Given the description of an element on the screen output the (x, y) to click on. 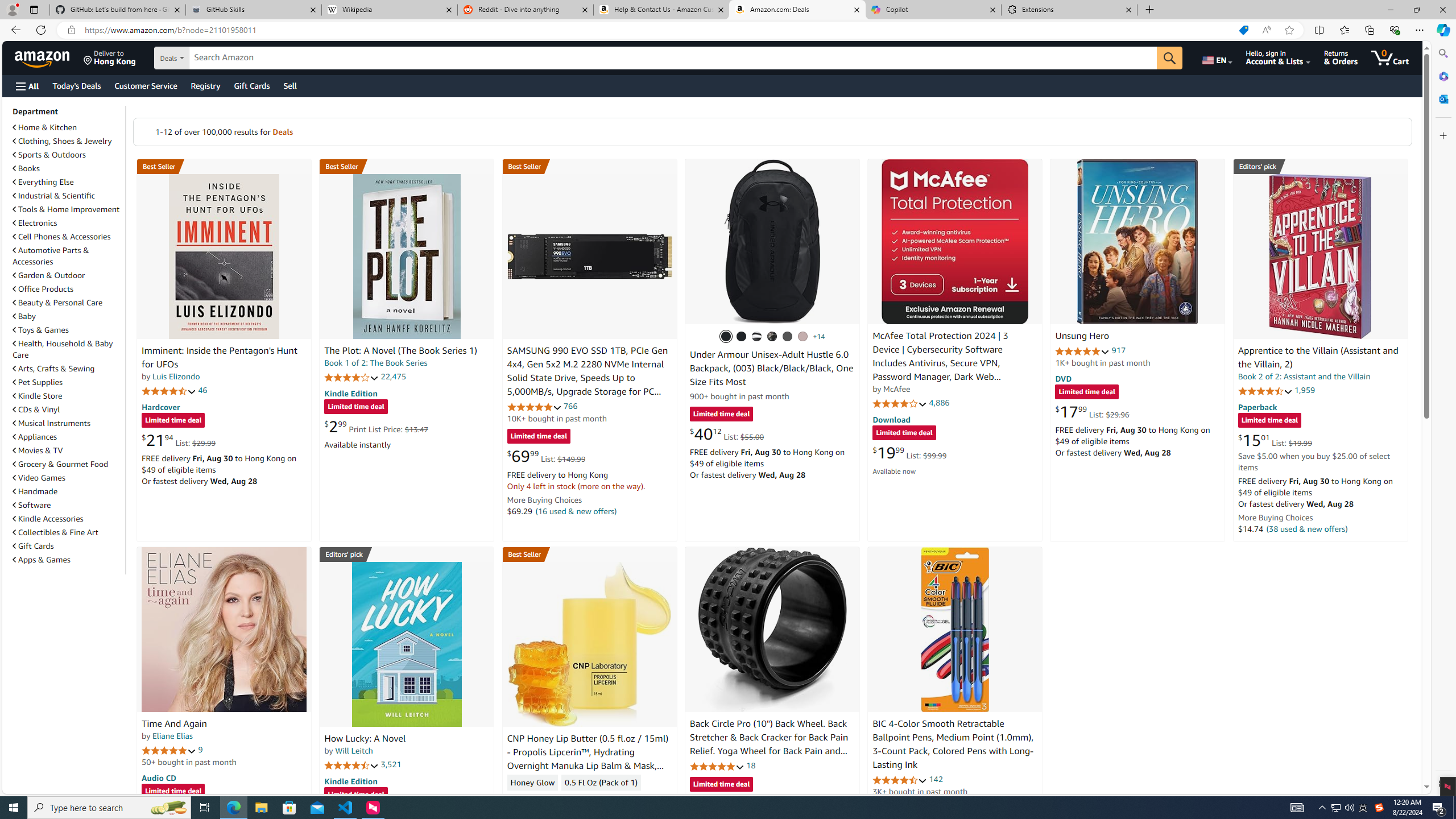
Everything Else (67, 181)
Help & Contact Us - Amazon Customer Service (660, 9)
(16 used & new offers) (576, 511)
Collections (1369, 29)
Close Outlook pane (1442, 98)
Best Seller in Internal Solid State Drives (589, 165)
Toys & Games (40, 329)
App bar (728, 29)
Choose a language for shopping. (1216, 57)
Health, Household & Baby Care (67, 348)
Paperback (1256, 406)
Browser essentials (1394, 29)
Kindle Accessories (47, 518)
Will Leitch (353, 750)
Toys & Games (67, 329)
